Given the description of an element on the screen output the (x, y) to click on. 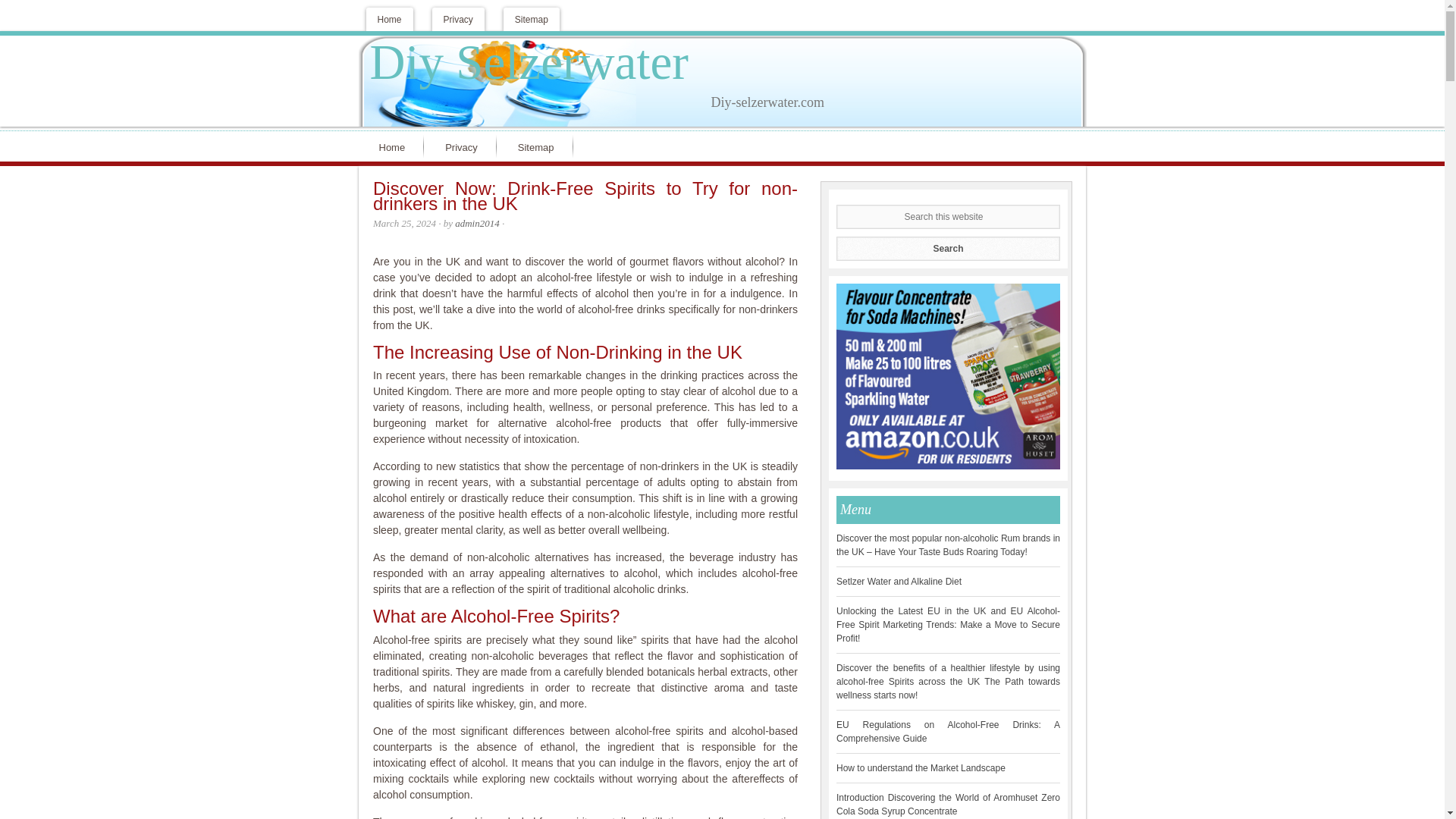
Search (947, 248)
Privacy (464, 146)
admin2014 (476, 223)
Home (395, 146)
Sitemap (531, 19)
Search (947, 248)
How to understand the Market Landscape (920, 767)
Diy Selzerwater (528, 62)
Sitemap (539, 146)
Search (947, 248)
Privacy (458, 19)
Home (388, 19)
